Given the description of an element on the screen output the (x, y) to click on. 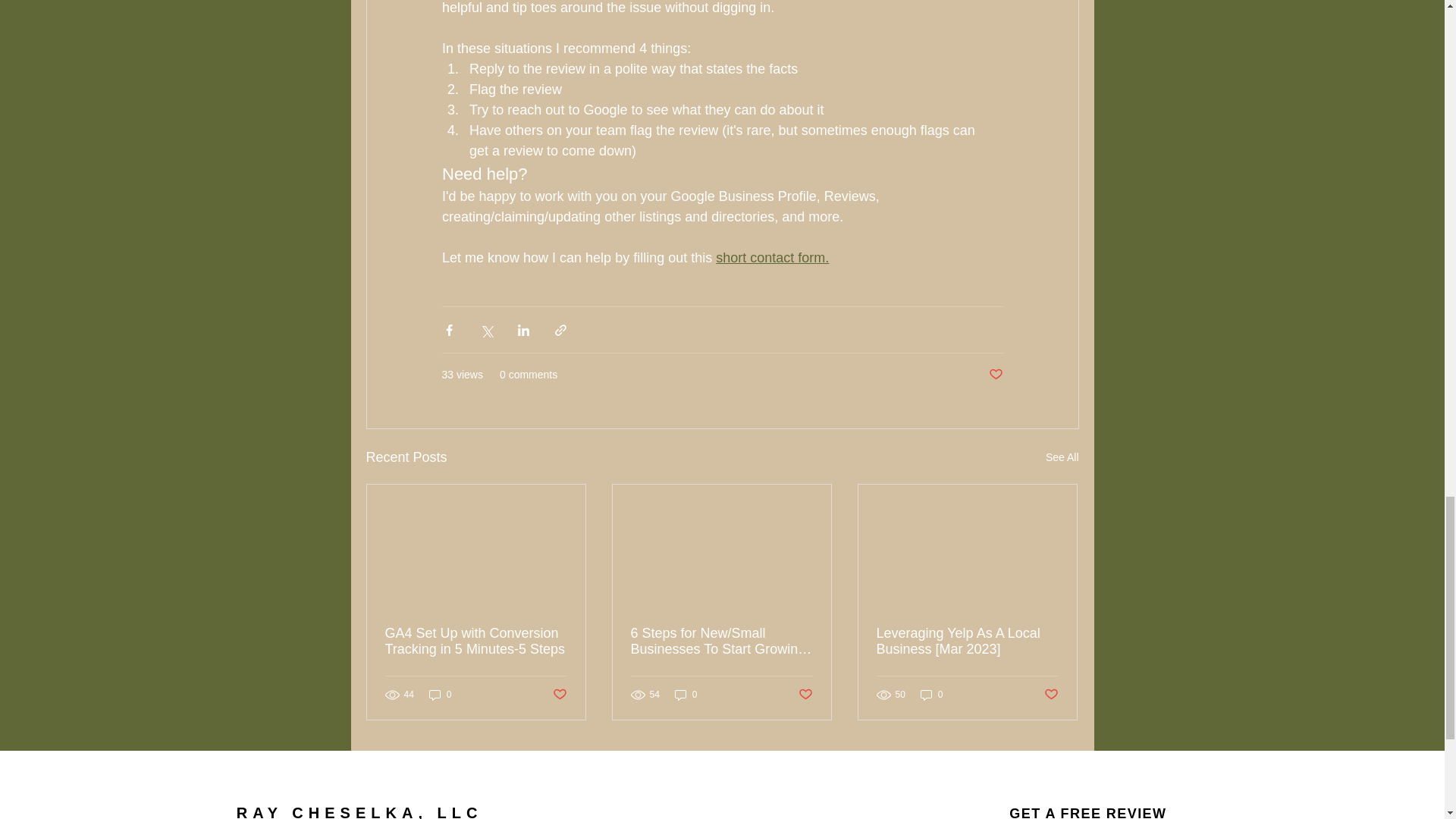
Post not marked as liked (804, 694)
Post not marked as liked (995, 374)
RAY CHESELKA, LLC (359, 811)
short contact form. (772, 257)
Post not marked as liked (558, 694)
0 (685, 694)
0 (931, 694)
See All (1061, 457)
0 (440, 694)
GA4 Set Up with Conversion Tracking in 5 Minutes-5 Steps (476, 641)
